Given the description of an element on the screen output the (x, y) to click on. 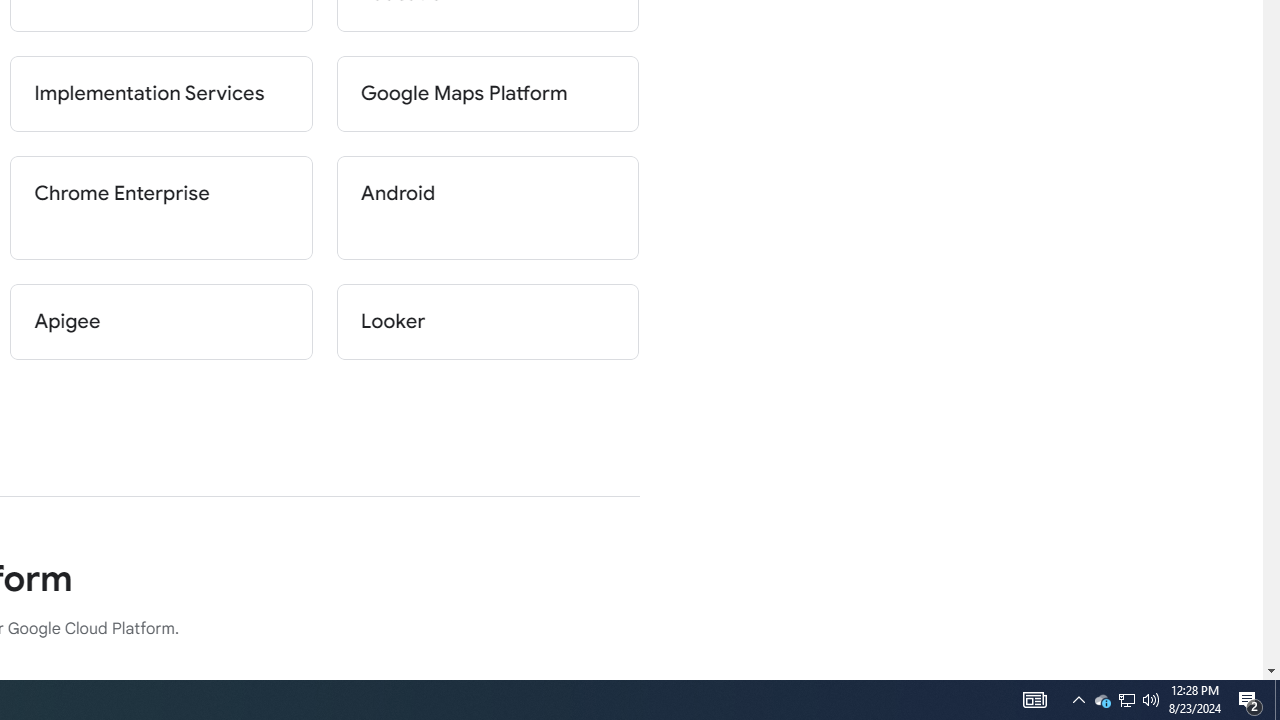
Chrome Enterprise (161, 207)
Google Maps Platform (487, 93)
Apigee (161, 321)
Android (487, 207)
Implementation Services (161, 93)
Looker (487, 321)
